Given the description of an element on the screen output the (x, y) to click on. 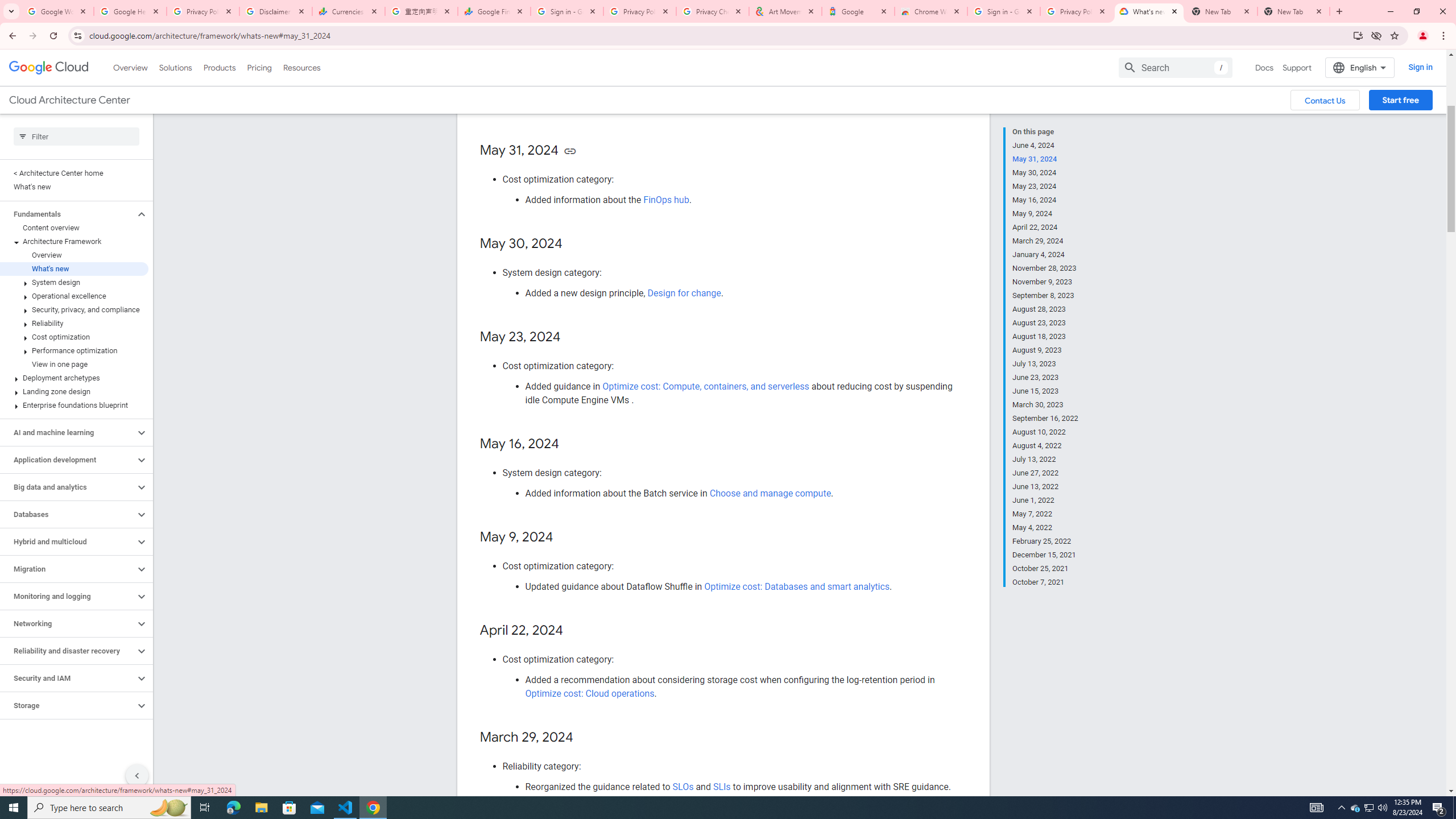
Security and IAM (67, 678)
monitoring (649, 72)
September 16, 2022 (1044, 418)
Security, privacy, and compliance (74, 309)
Hybrid and multicloud (67, 541)
January 4, 2024 (1044, 254)
AI and machine learning (67, 432)
August 23, 2023 (1044, 323)
Choose and manage compute (770, 493)
March 30, 2023 (1044, 404)
July 13, 2023 (1044, 364)
